Given the description of an element on the screen output the (x, y) to click on. 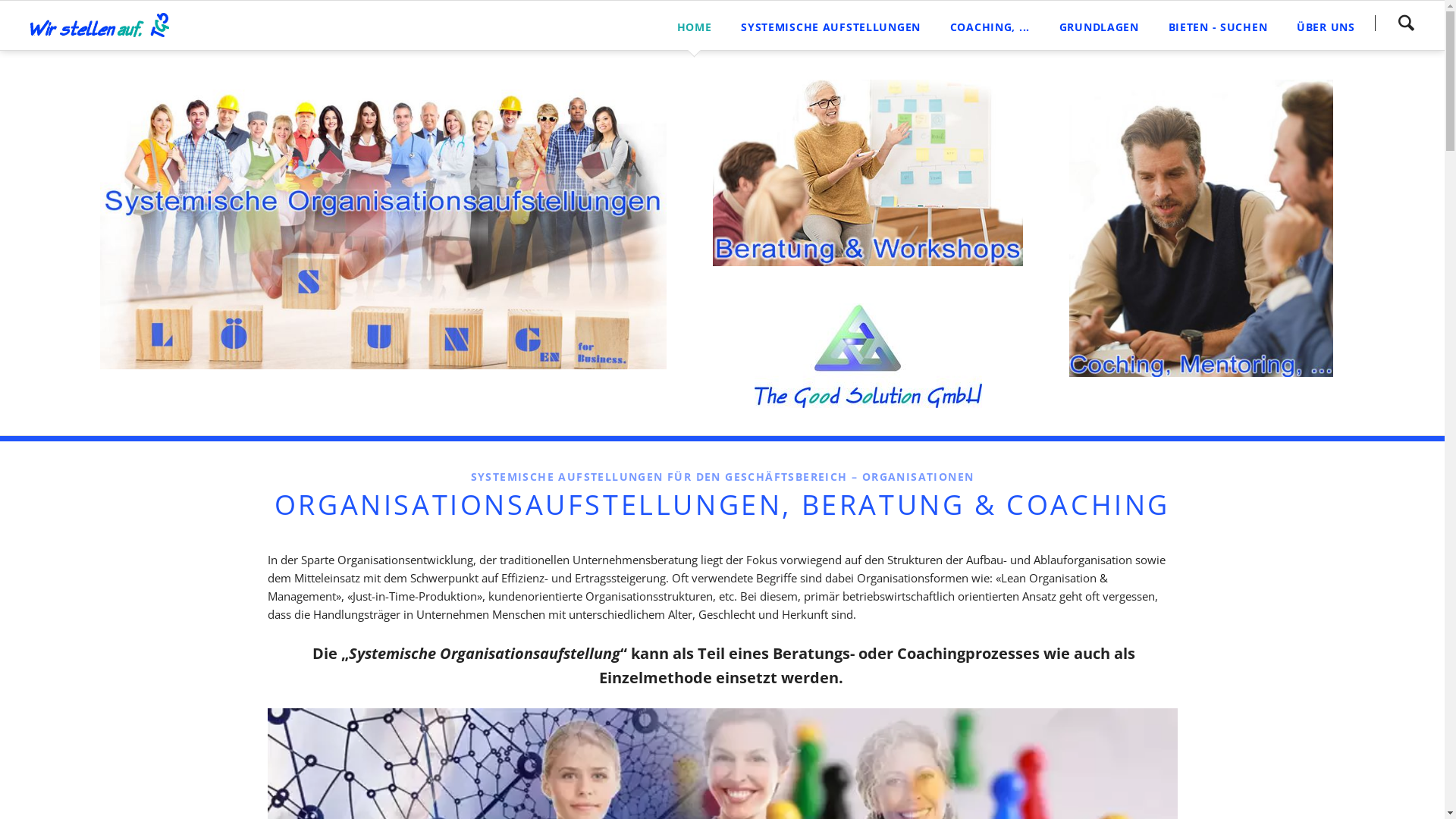
COACHING, ... Element type: text (989, 25)
Coaching, Mentoring & Mental Sparring Element type: hover (1201, 227)
SYSTEMISCHE AUFSTELLUNGEN Element type: text (830, 25)
Suchen Element type: text (1405, 22)
GRUNDLAGEN Element type: text (1098, 25)
Beratung & Seminare Element type: hover (867, 172)
BIETEN - SUCHEN Element type: text (1217, 25)
